Given the description of an element on the screen output the (x, y) to click on. 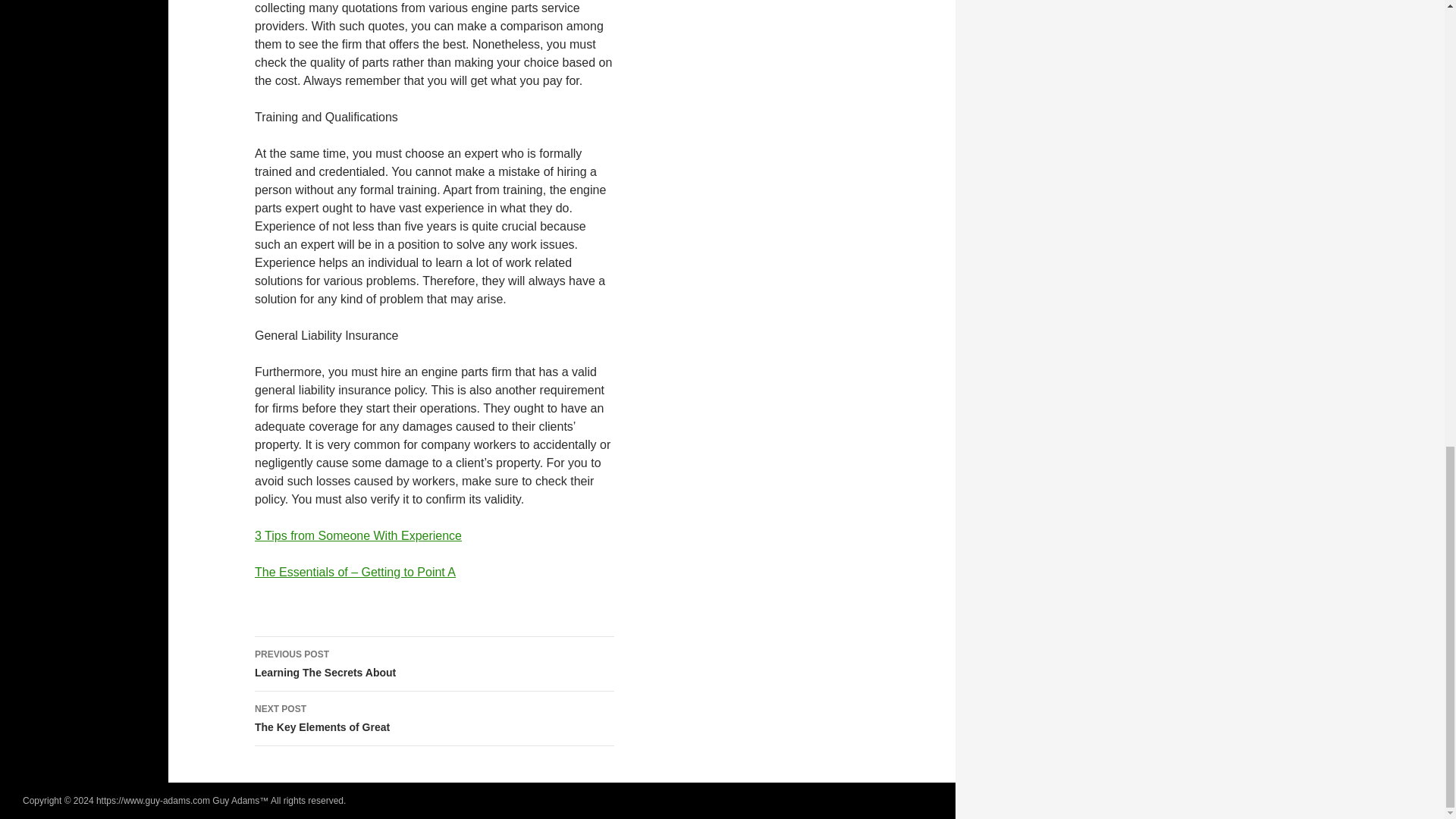
3 Tips from Someone With Experience (357, 535)
Guy Adams (434, 718)
